Given the description of an element on the screen output the (x, y) to click on. 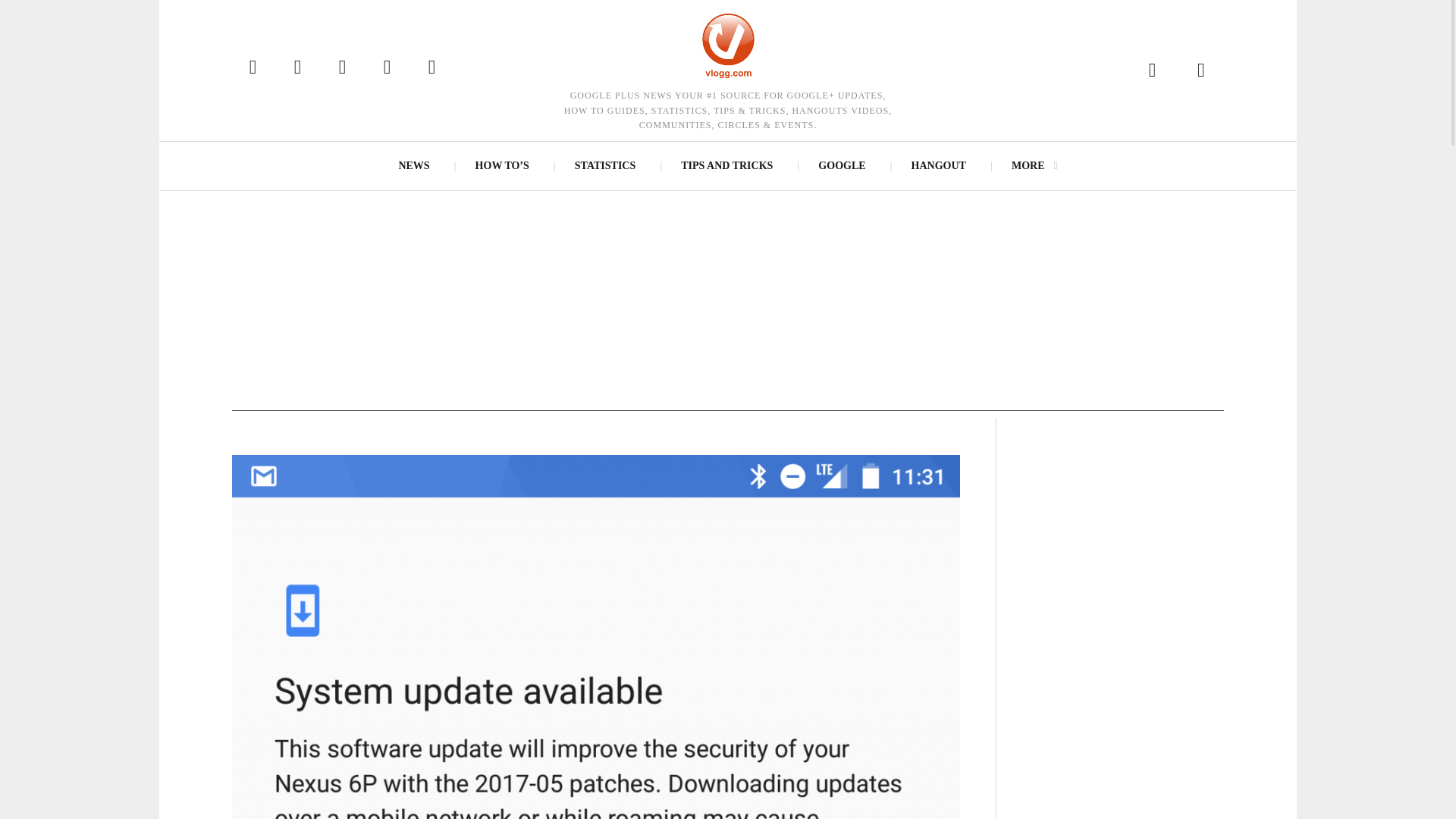
MORE (1034, 164)
NEWS (413, 164)
HANGOUT (938, 164)
STATISTICS (605, 164)
GOOGLE (842, 164)
vlogg.com (727, 45)
TIPS AND TRICKS (726, 164)
News about Google and its amazing products (842, 164)
